Given the description of an element on the screen output the (x, y) to click on. 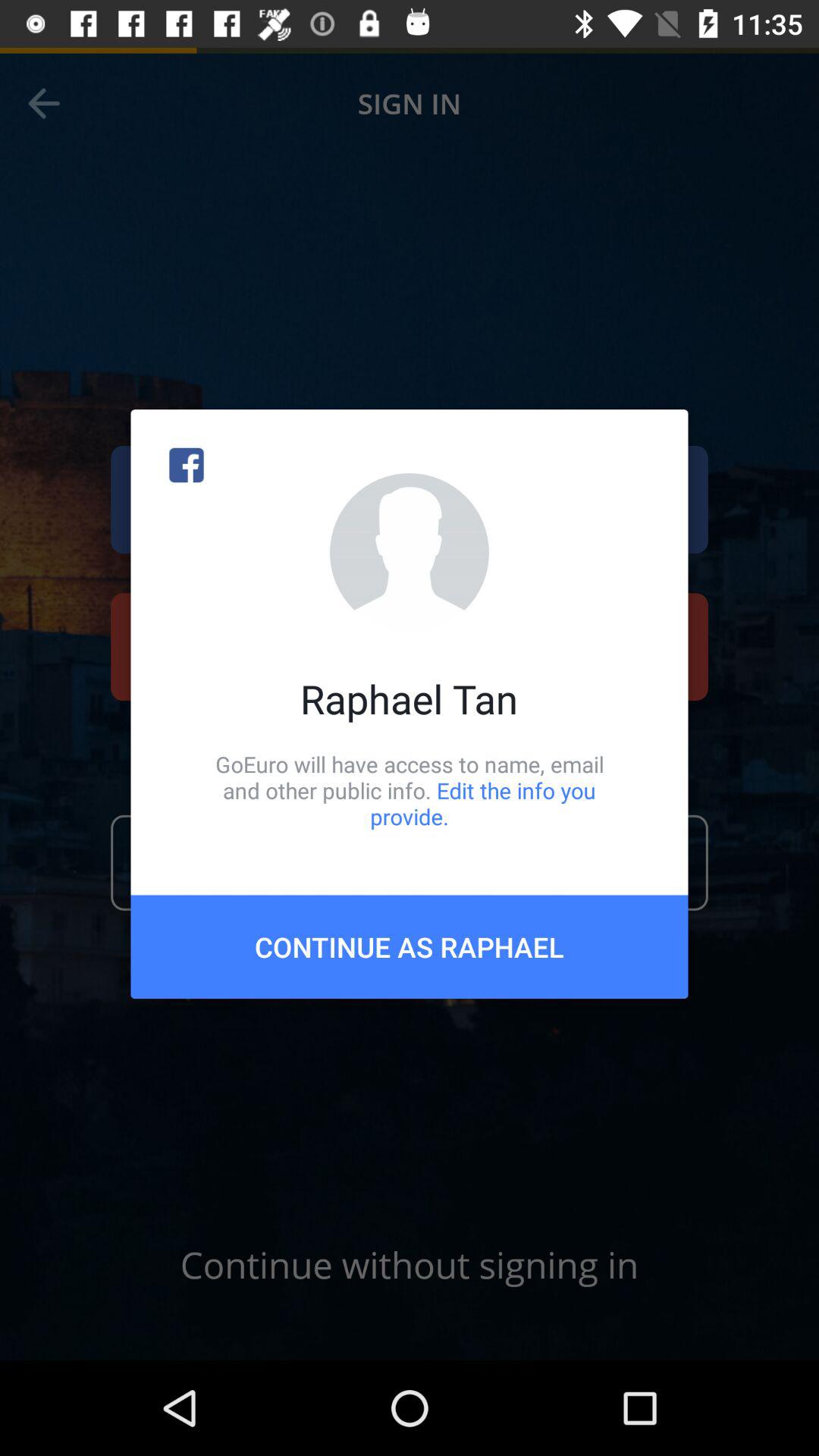
open icon below the goeuro will have (409, 946)
